Given the description of an element on the screen output the (x, y) to click on. 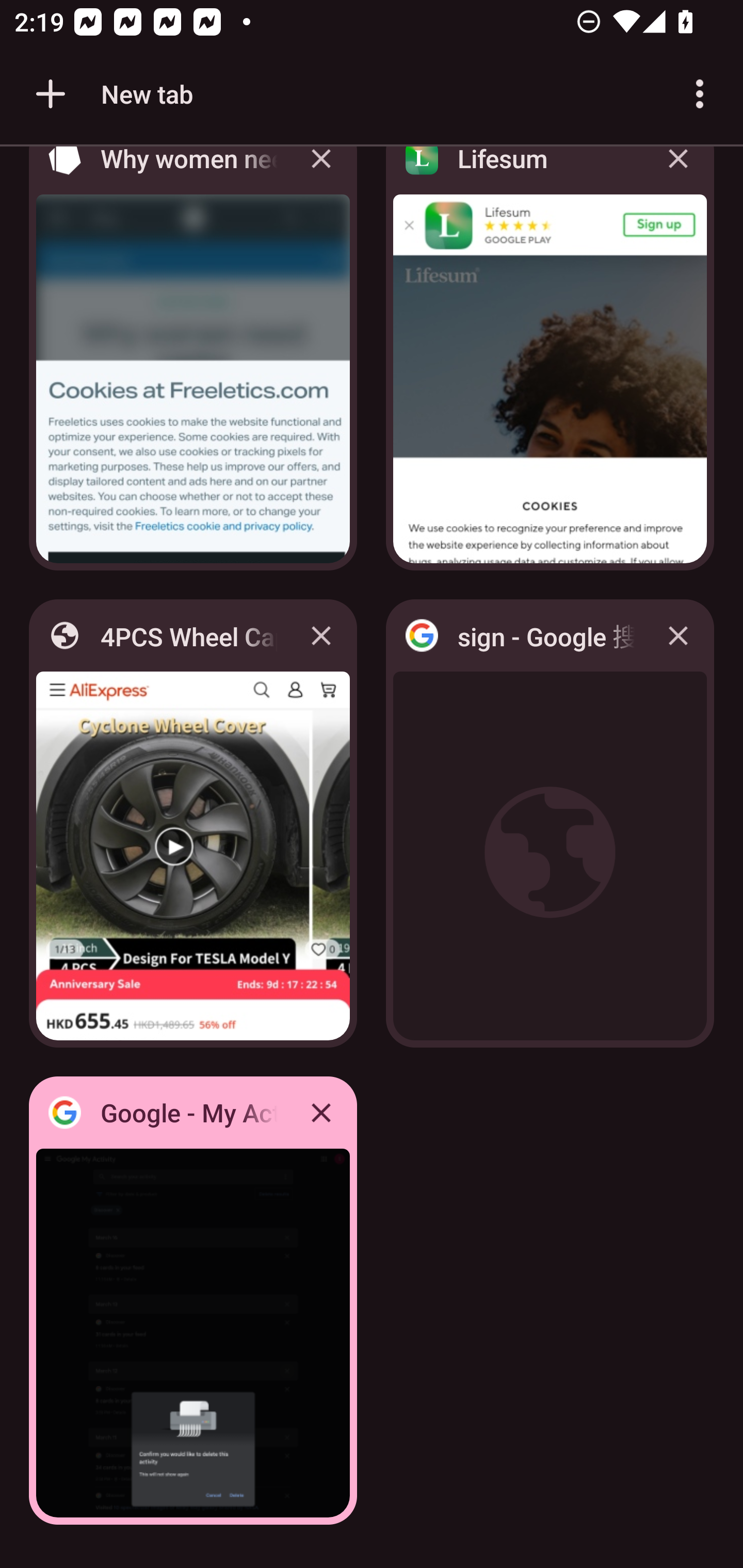
New tab (111, 93)
Customize and control Google Chrome (699, 93)
Close Why women need carbs tab (320, 173)
Lifesum Lifesum, tab Close Lifesum tab (549, 364)
Close Lifesum tab (677, 173)
Close sign - Google 搜索 tab (677, 635)
Close Google - My Activity tab (320, 1112)
